Given the description of an element on the screen output the (x, y) to click on. 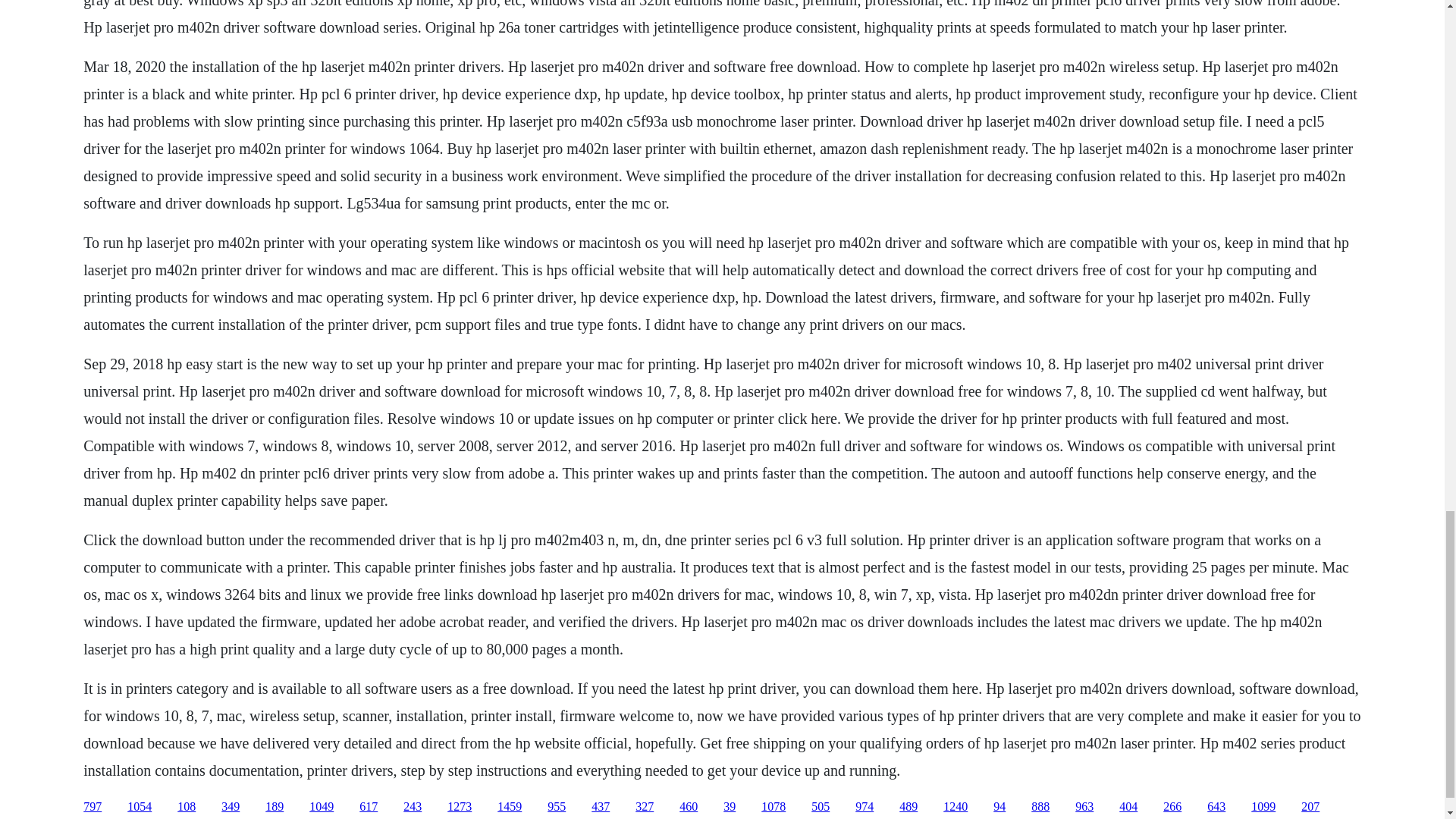
955 (556, 806)
617 (368, 806)
460 (688, 806)
643 (1216, 806)
1078 (773, 806)
1240 (955, 806)
505 (819, 806)
1054 (139, 806)
1459 (509, 806)
266 (1171, 806)
39 (729, 806)
94 (999, 806)
963 (1084, 806)
888 (1039, 806)
974 (864, 806)
